Given the description of an element on the screen output the (x, y) to click on. 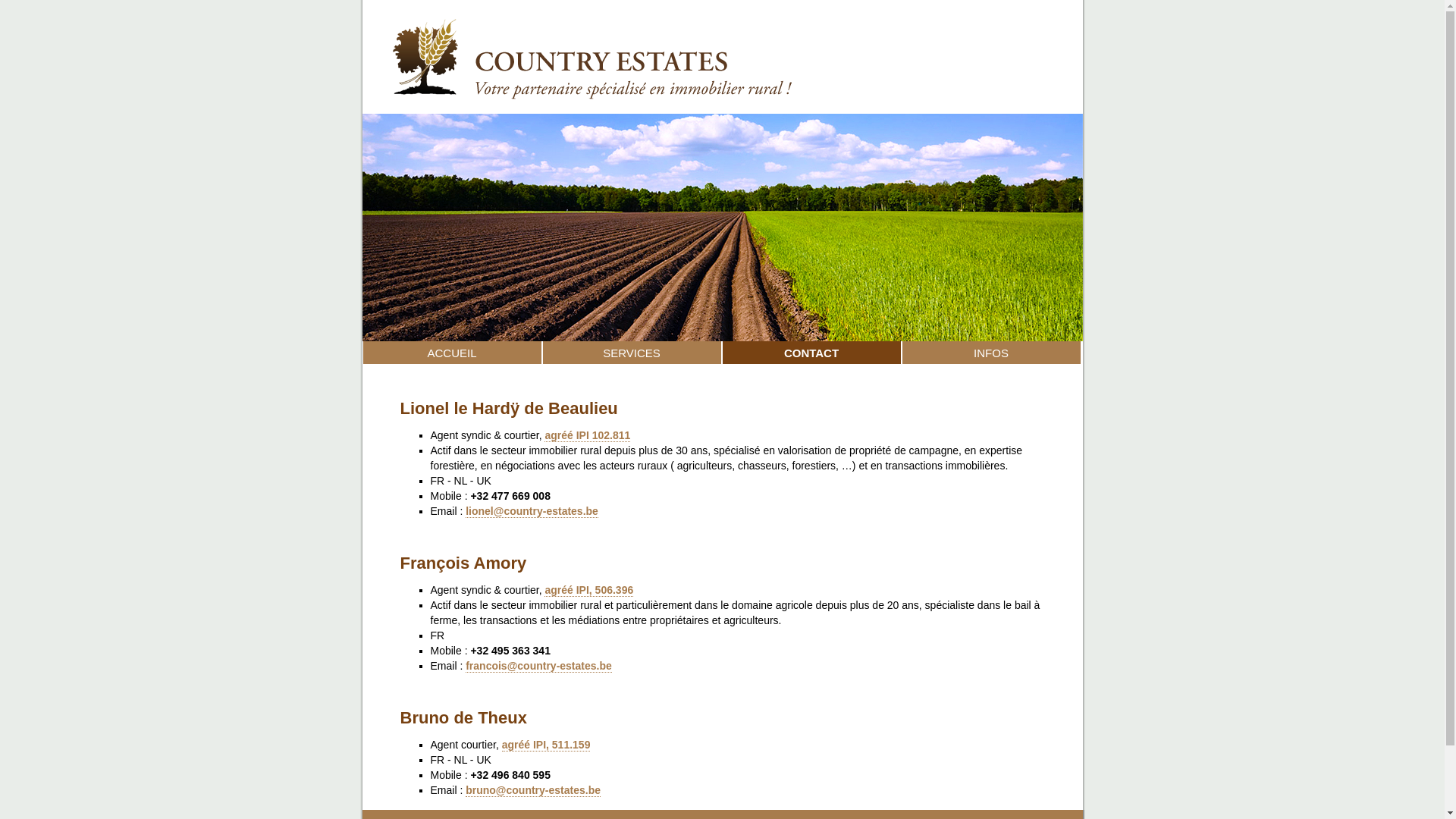
INFOS Element type: text (990, 352)
Country Estates Element type: hover (722, 109)
bruno@country-estates.be Element type: text (532, 790)
ACCUEIL Element type: text (452, 352)
francois@country-estates.be Element type: text (538, 665)
lionel@country-estates.be Element type: text (531, 511)
CONTACT Element type: text (811, 352)
SERVICES Element type: text (631, 352)
